Given the description of an element on the screen output the (x, y) to click on. 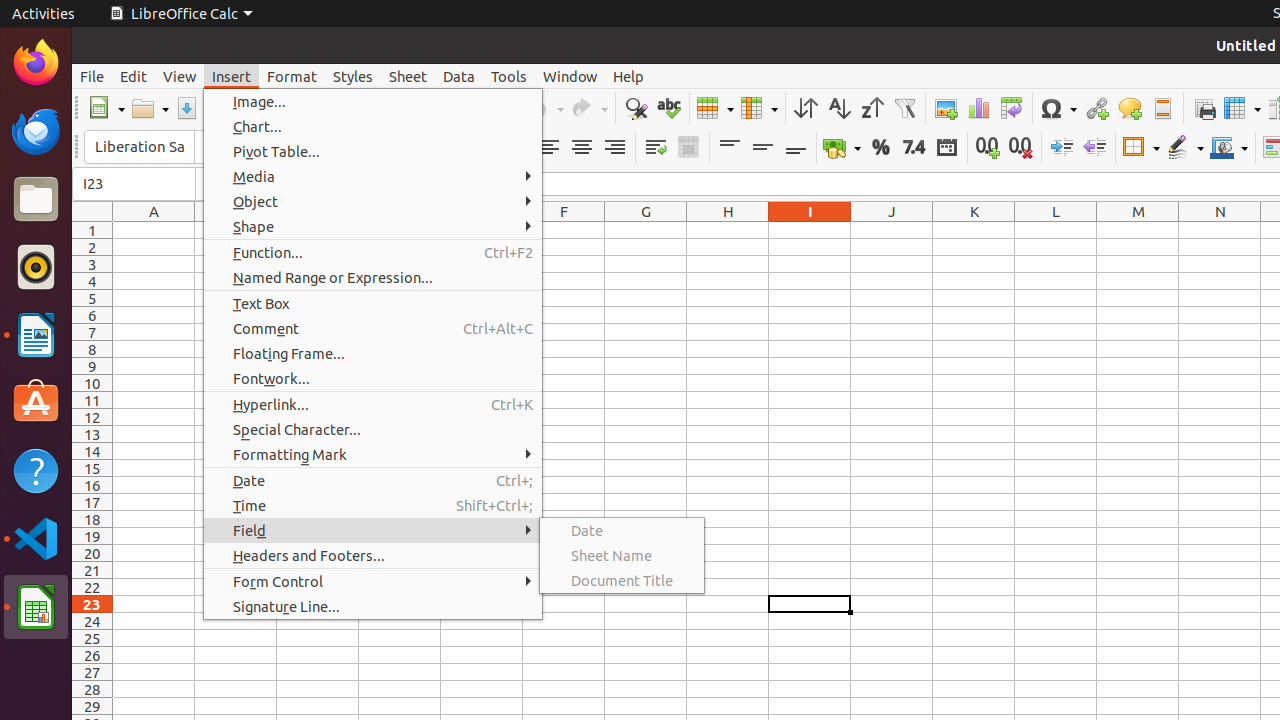
LibreOffice Calc Element type: push-button (36, 607)
IsaHelpMain.desktop Element type: label (133, 300)
H1 Element type: table-cell (728, 230)
Object Element type: menu (373, 201)
Formatting Mark Element type: menu (373, 454)
